Given the description of an element on the screen output the (x, y) to click on. 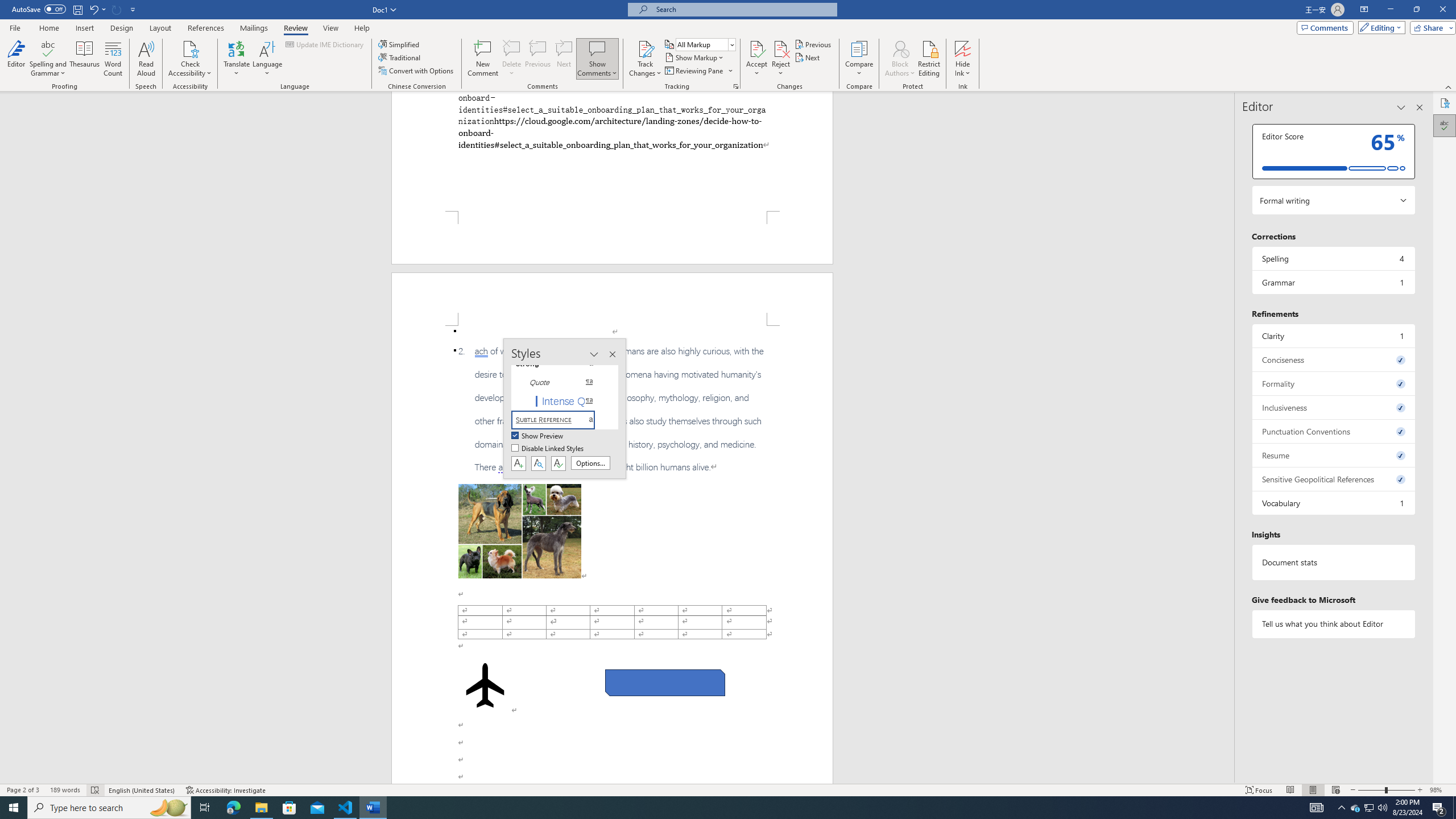
Clarity, 1 issue. Press space or enter to review items. (1333, 335)
Formality, 0 issues. Press space or enter to review items. (1333, 383)
Traditional (400, 56)
Read Aloud (145, 58)
Restrict Editing (929, 58)
Hide Ink (962, 48)
Accept and Move to Next (756, 48)
Undo Paste (92, 9)
